Given the description of an element on the screen output the (x, y) to click on. 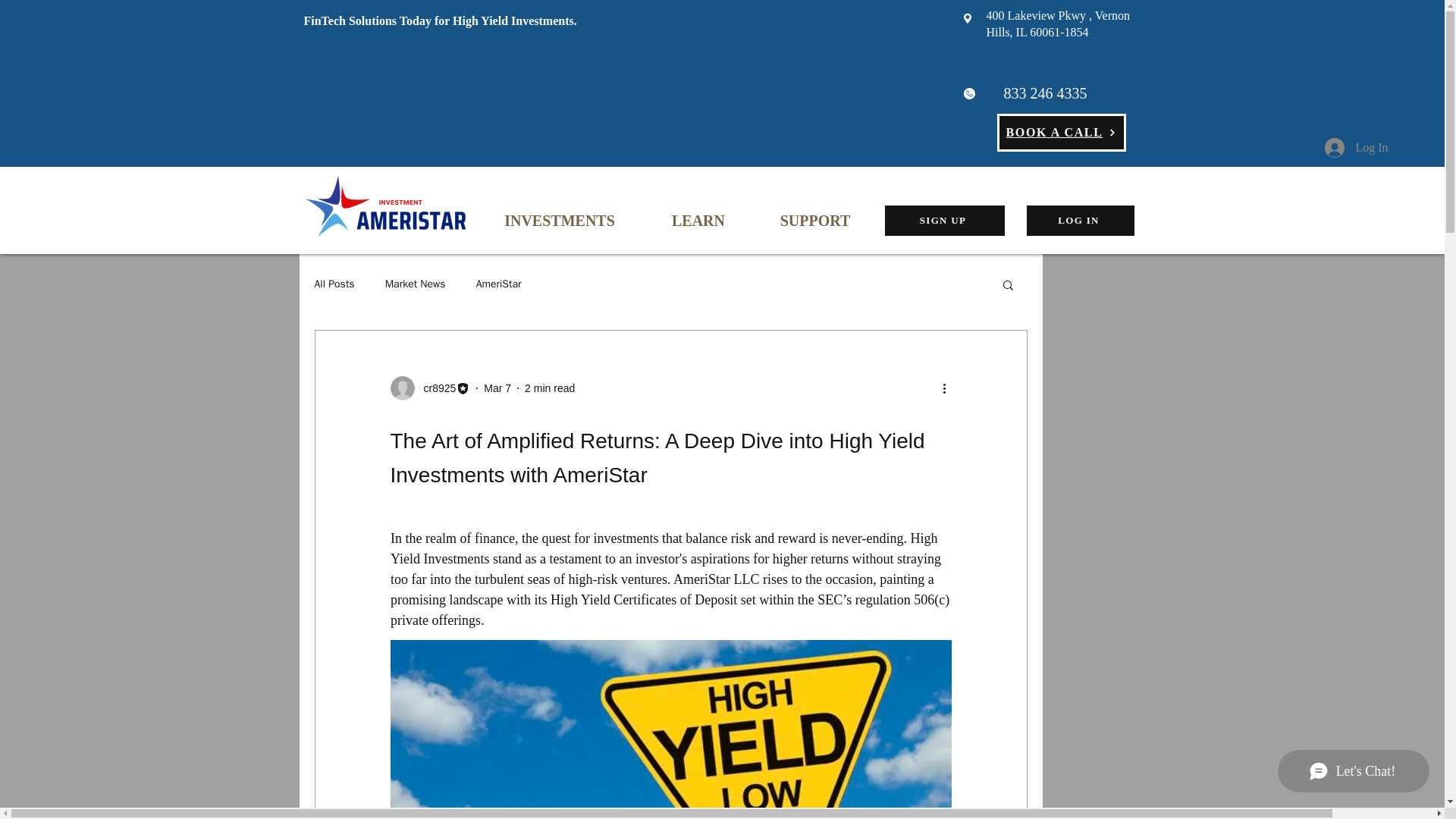
2 min read (549, 387)
All Posts (333, 284)
SIGN UP (943, 220)
cr8925 (430, 387)
Log In (1355, 147)
Market News (415, 284)
Mar 7 (497, 387)
BOOK A CALL (1060, 132)
cr8925 (434, 388)
AmeriStar (498, 284)
LOG IN (1080, 220)
Wix Chat (1356, 774)
